Given the description of an element on the screen output the (x, y) to click on. 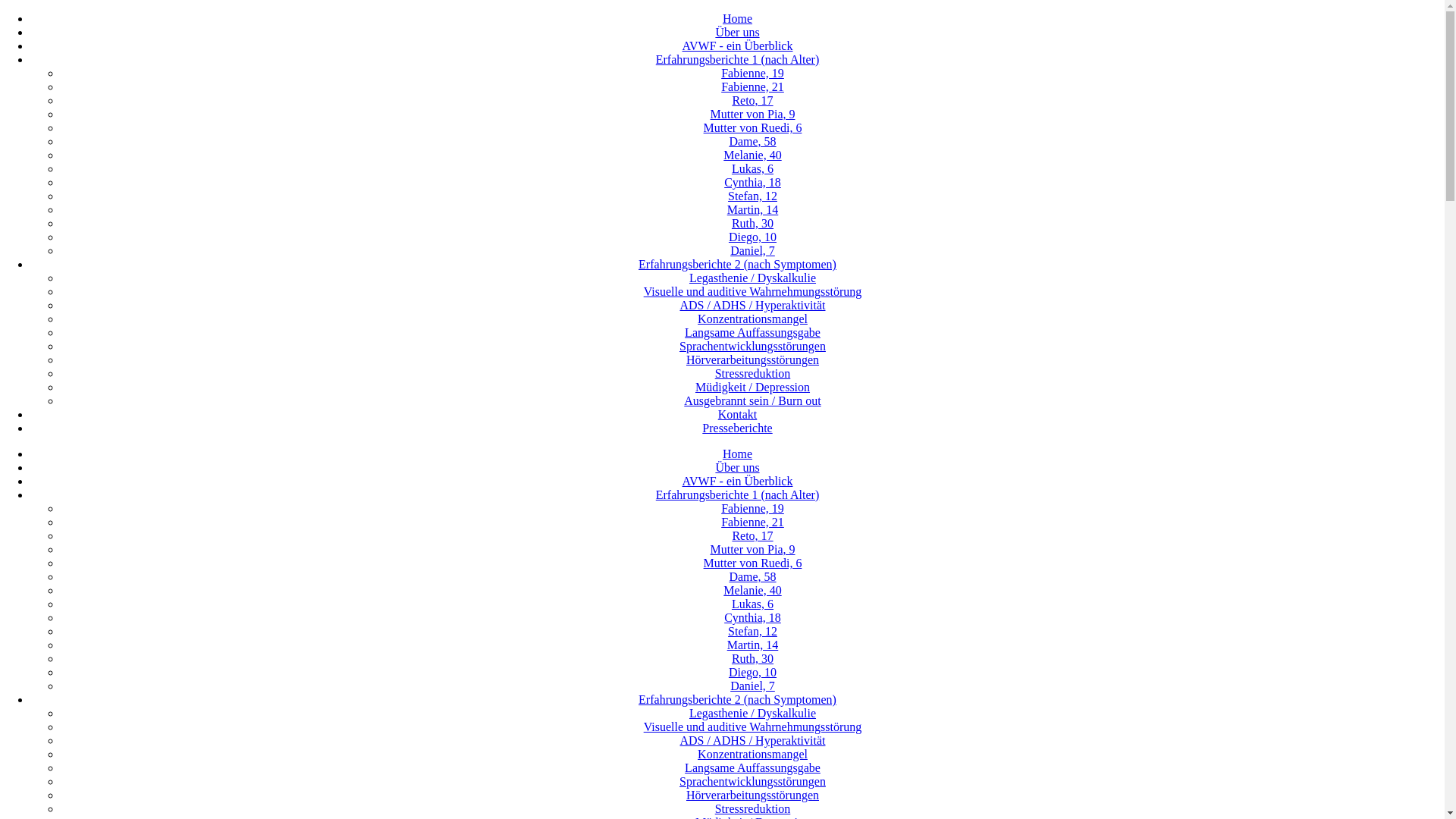
Diego, 10 Element type: text (752, 236)
Langsame Auffassungsgabe Element type: text (752, 767)
Fabienne, 19 Element type: text (752, 508)
Legasthenie / Dyskalkulie Element type: text (752, 712)
Fabienne, 19 Element type: text (752, 72)
Stefan, 12 Element type: text (752, 195)
Cynthia, 18 Element type: text (752, 181)
Martin, 14 Element type: text (752, 644)
Lukas, 6 Element type: text (752, 603)
Melanie, 40 Element type: text (752, 589)
Erfahrungsberichte 2 (nach Symptomen) Element type: text (737, 699)
Stressreduktion Element type: text (752, 373)
Stefan, 12 Element type: text (752, 630)
Ruth, 30 Element type: text (752, 222)
Legasthenie / Dyskalkulie Element type: text (752, 277)
Fabienne, 21 Element type: text (752, 521)
Ausgebrannt sein / Burn out Element type: text (752, 400)
Home Element type: text (737, 453)
Reto, 17 Element type: text (751, 535)
Mutter von Pia, 9 Element type: text (751, 548)
Melanie, 40 Element type: text (752, 154)
Daniel, 7 Element type: text (752, 250)
Home Element type: text (737, 18)
Konzentrationsmangel Element type: text (752, 318)
Dame, 58 Element type: text (751, 576)
Fabienne, 21 Element type: text (752, 86)
Mutter von Ruedi, 6 Element type: text (752, 127)
Kontakt Element type: text (737, 413)
Konzentrationsmangel Element type: text (752, 753)
Cynthia, 18 Element type: text (752, 617)
Presseberichte Element type: text (736, 427)
Martin, 14 Element type: text (752, 209)
Mutter von Ruedi, 6 Element type: text (752, 562)
Stressreduktion Element type: text (752, 808)
Mutter von Pia, 9 Element type: text (751, 113)
Daniel, 7 Element type: text (752, 685)
Erfahrungsberichte 2 (nach Symptomen) Element type: text (737, 263)
Reto, 17 Element type: text (751, 100)
Erfahrungsberichte 1 (nach Alter) Element type: text (737, 59)
Dame, 58 Element type: text (751, 140)
Lukas, 6 Element type: text (752, 168)
Erfahrungsberichte 1 (nach Alter) Element type: text (737, 494)
Ruth, 30 Element type: text (752, 658)
Langsame Auffassungsgabe Element type: text (752, 332)
Diego, 10 Element type: text (752, 671)
